Given the description of an element on the screen output the (x, y) to click on. 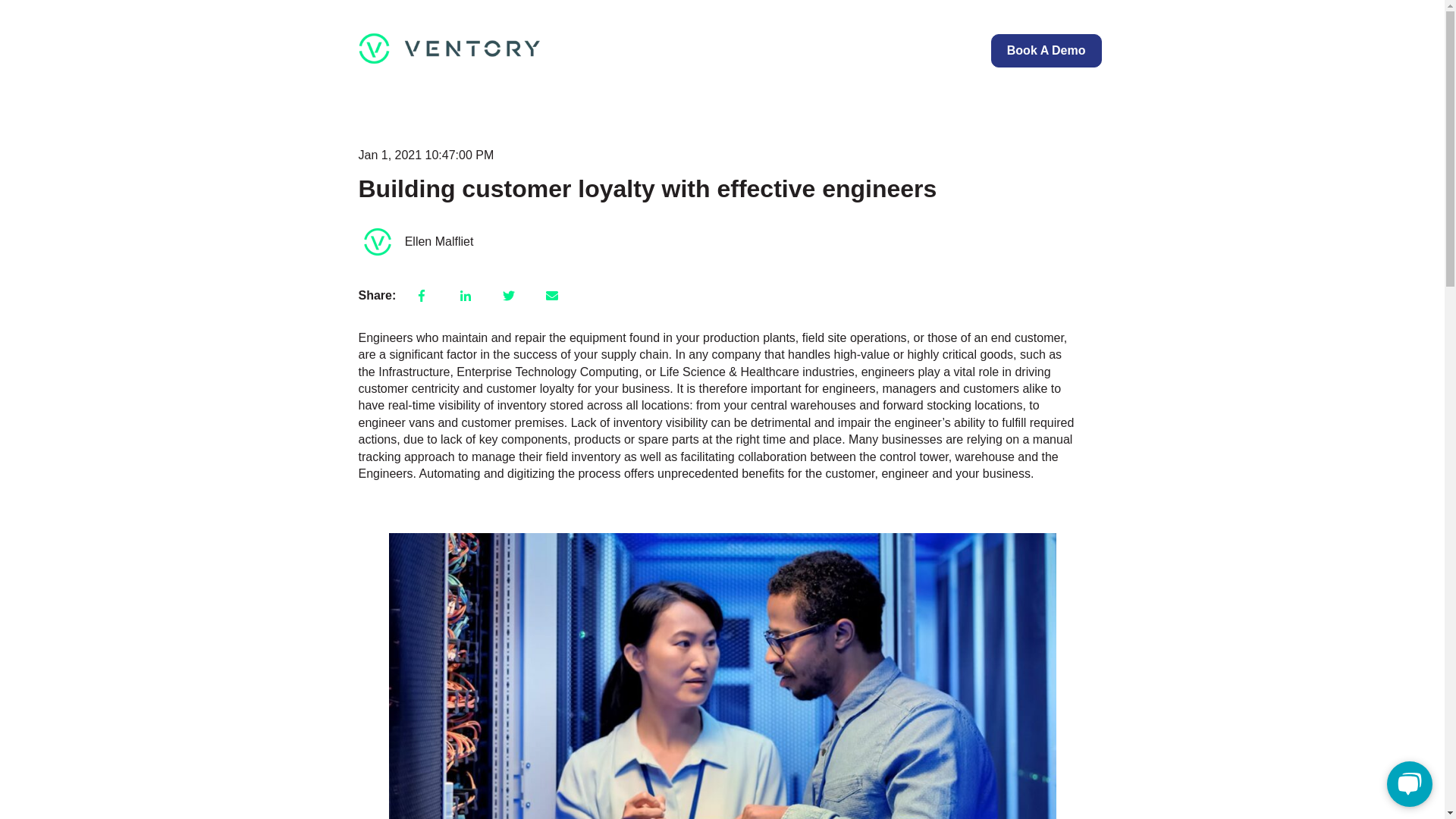
Book A Demo (1046, 50)
Ellen Malfliet (439, 241)
